Given the description of an element on the screen output the (x, y) to click on. 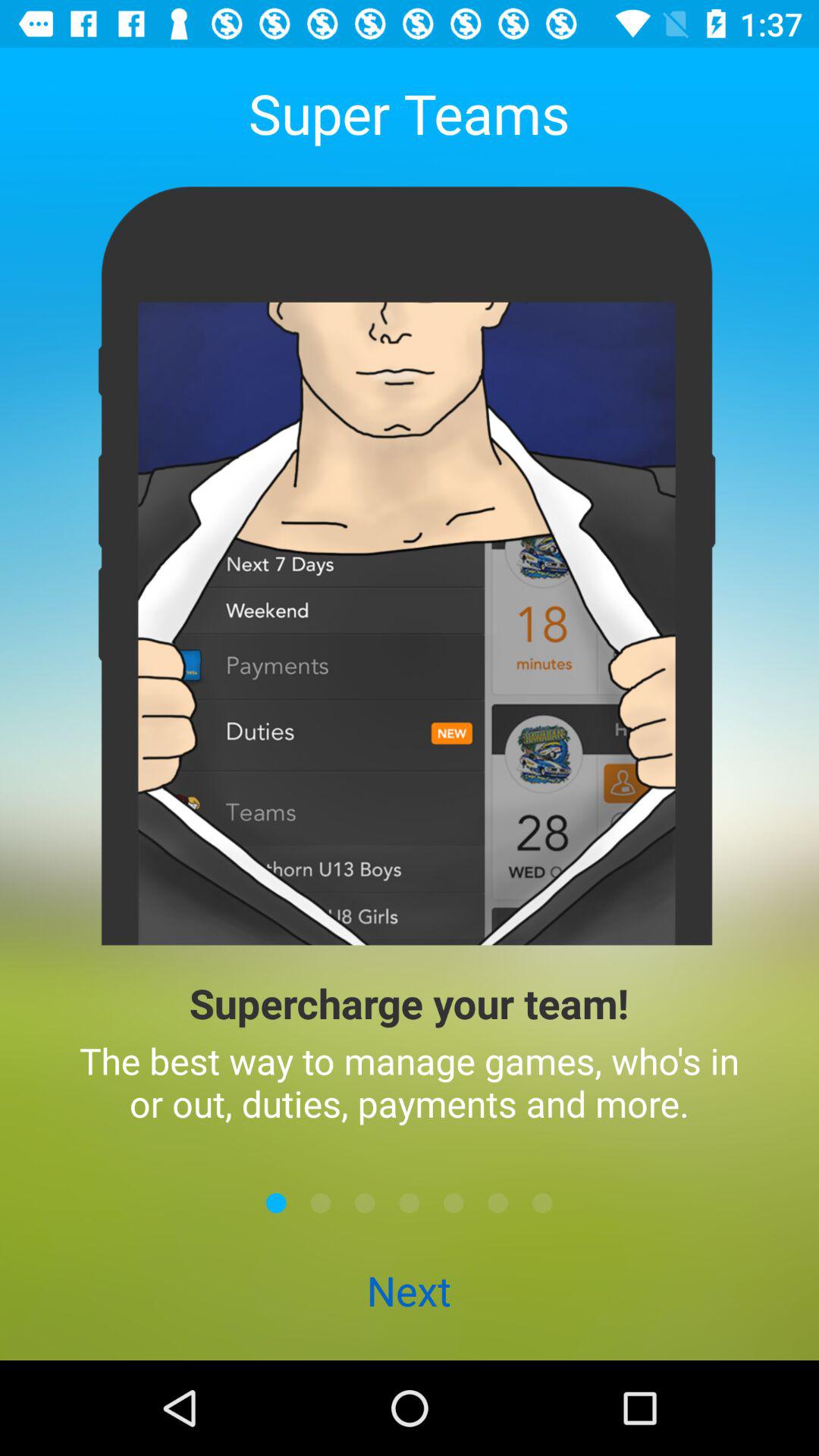
tap the item above the next (453, 1203)
